Given the description of an element on the screen output the (x, y) to click on. 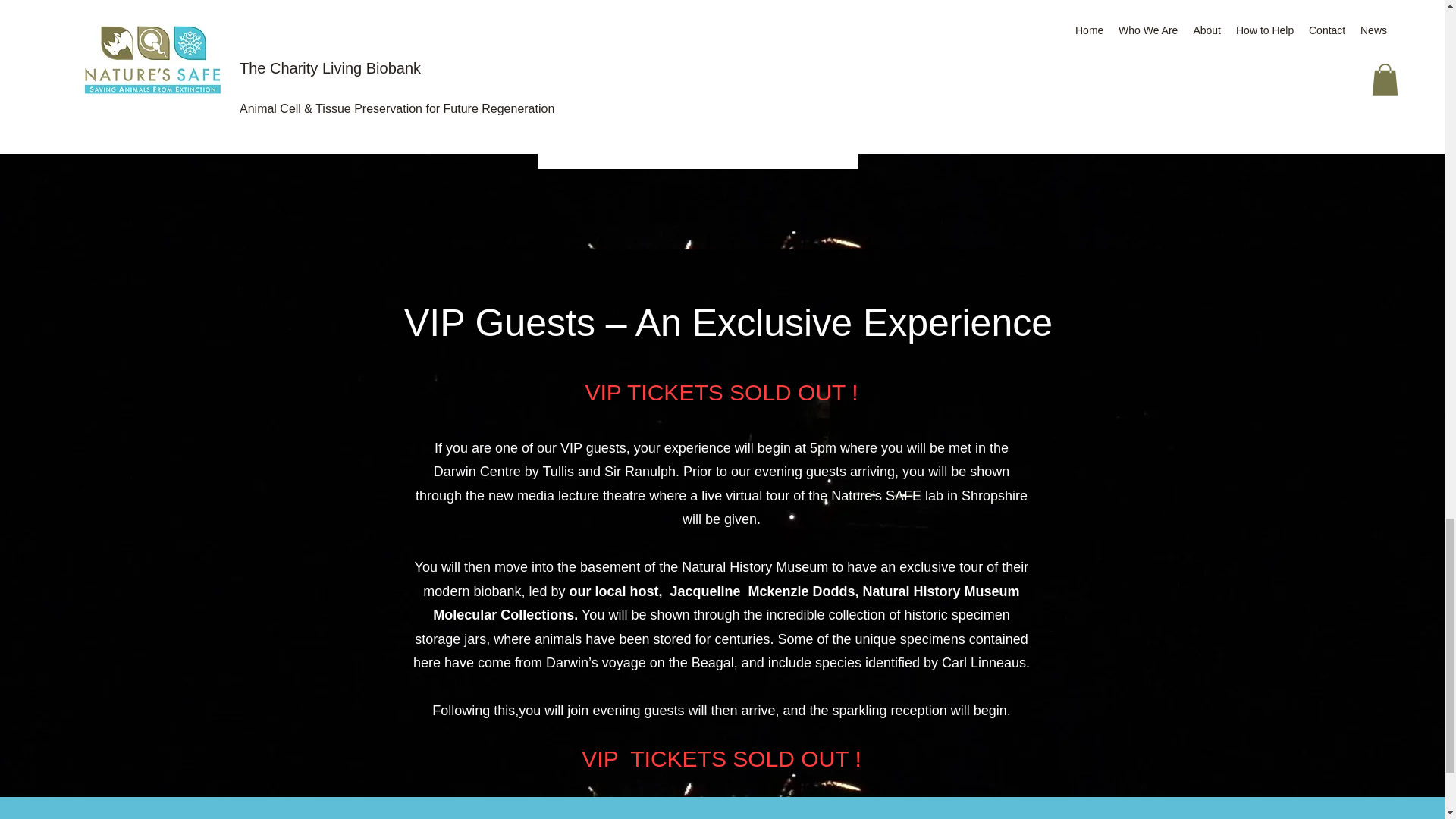
sponsors group 2.jpg (697, 84)
